Given the description of an element on the screen output the (x, y) to click on. 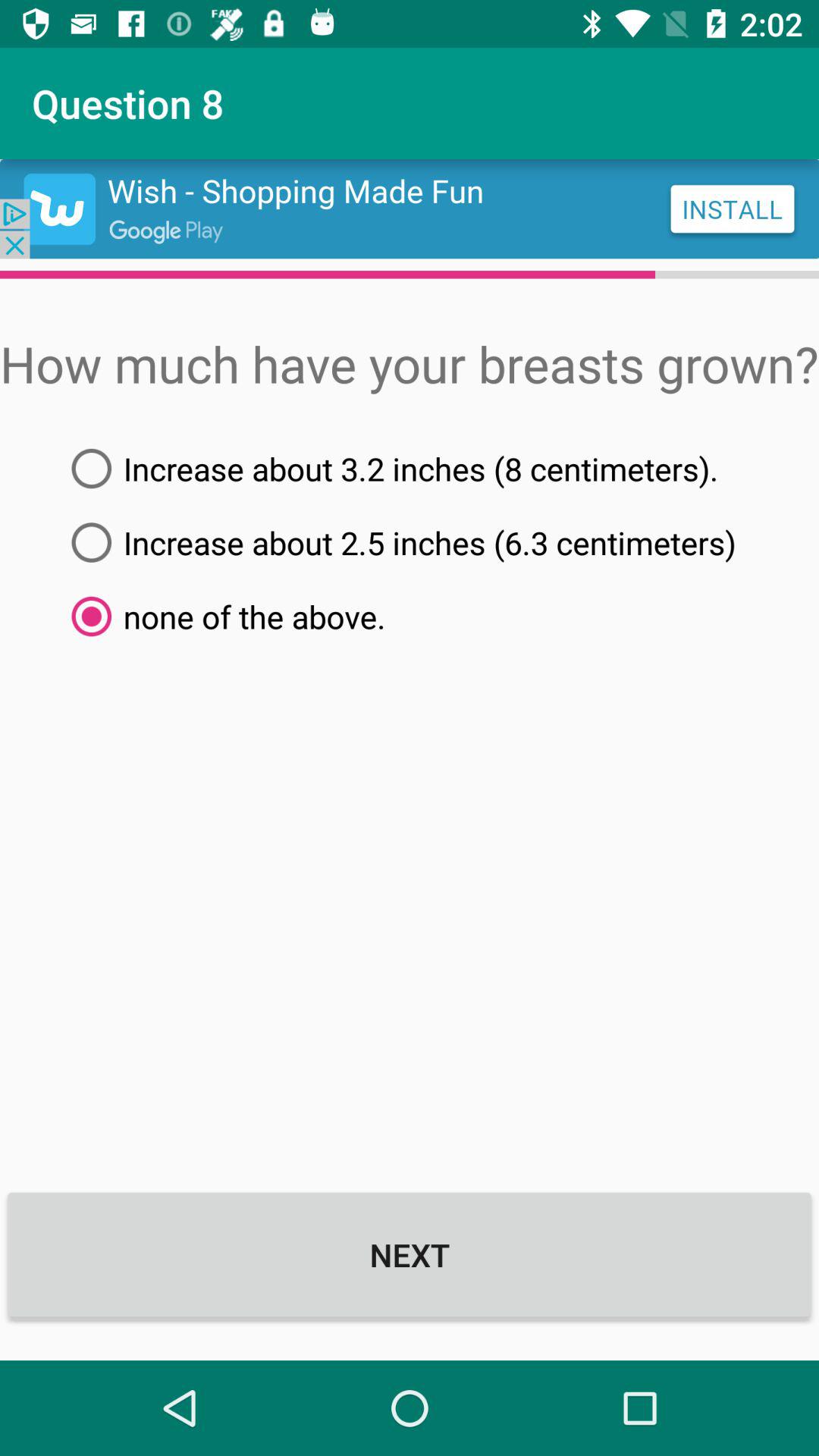
install app (409, 208)
